Given the description of an element on the screen output the (x, y) to click on. 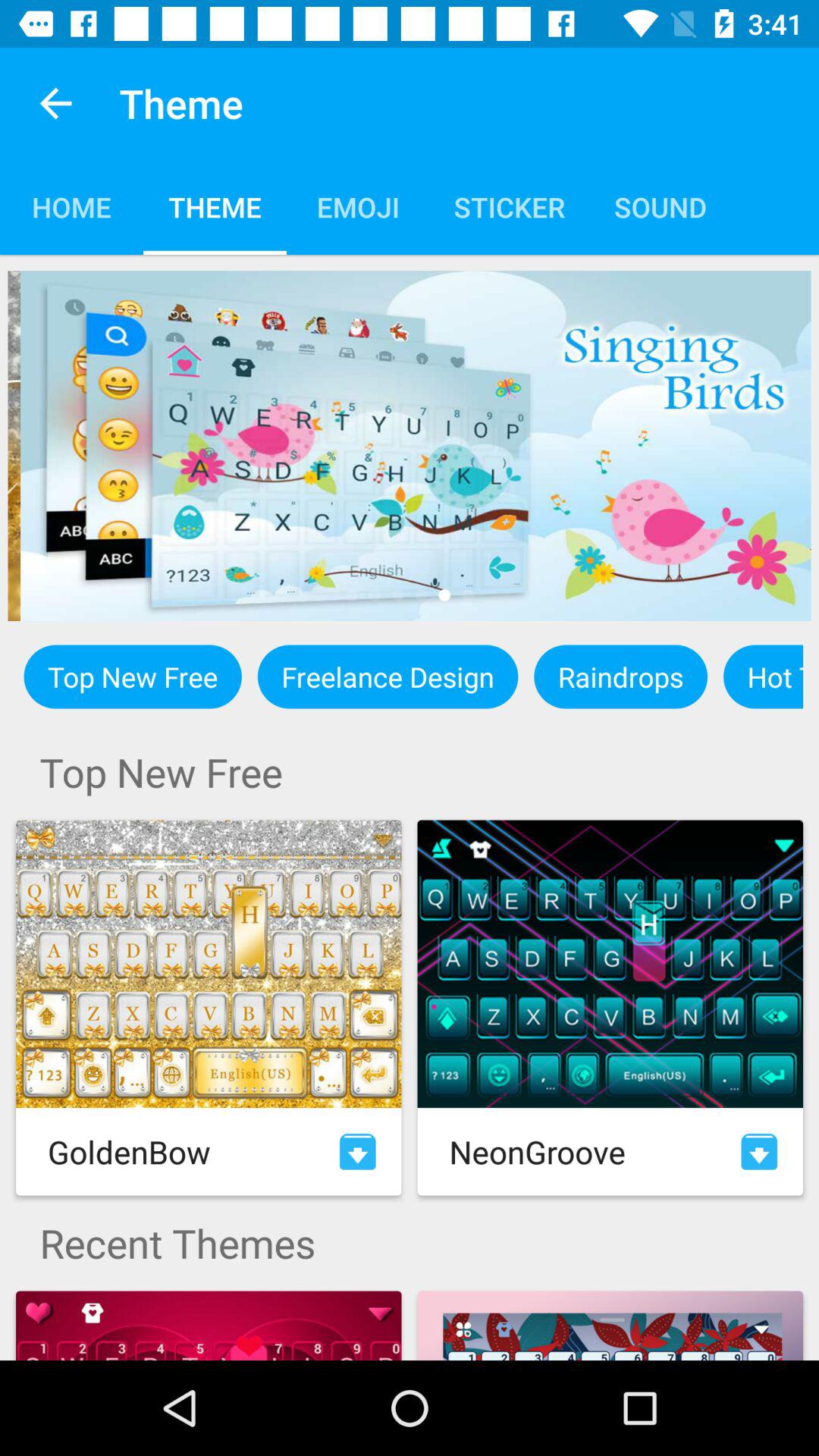
turn on app to the left of theme icon (55, 103)
